Given the description of an element on the screen output the (x, y) to click on. 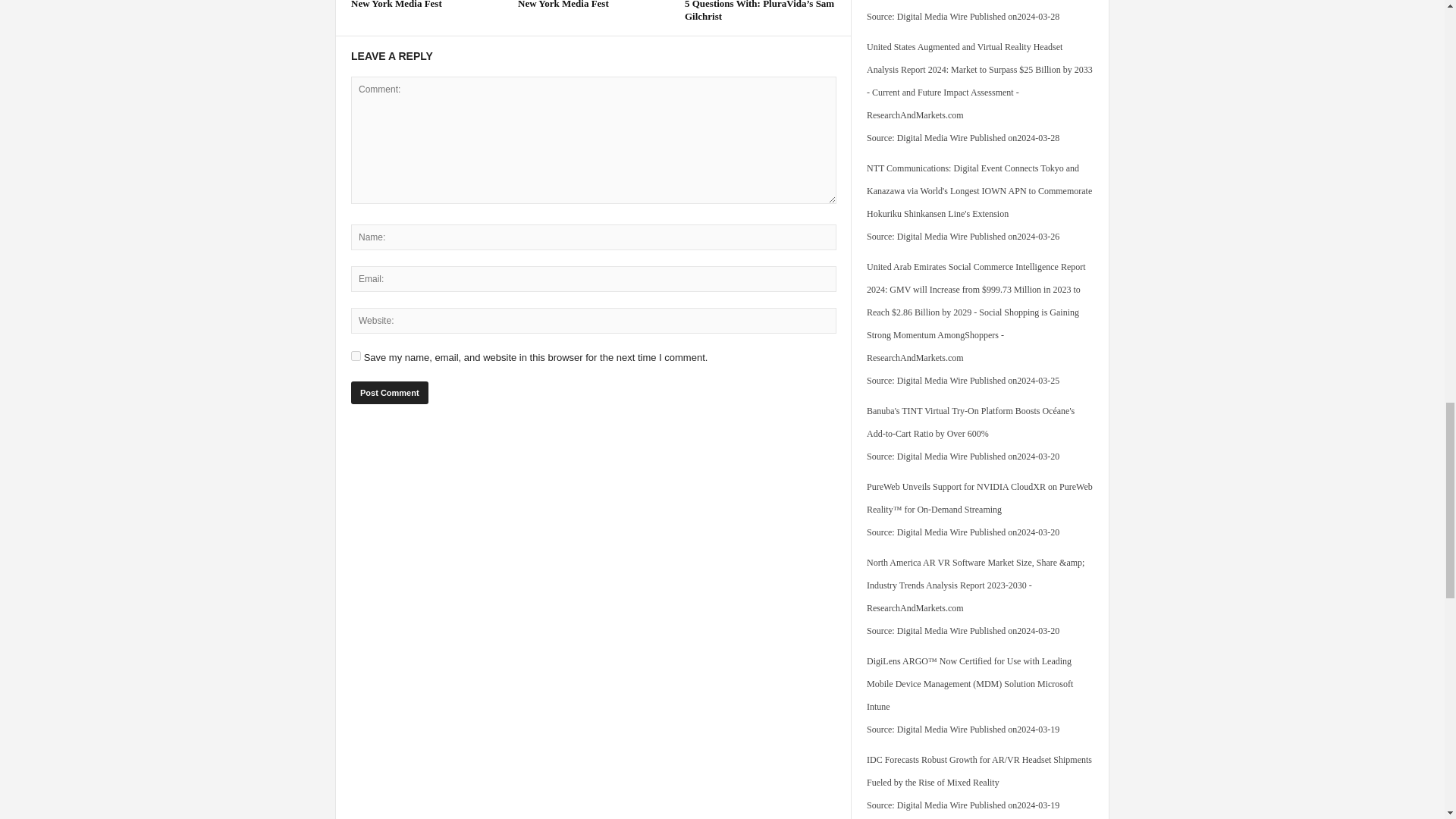
Post Comment (389, 392)
yes (355, 356)
